Given the description of an element on the screen output the (x, y) to click on. 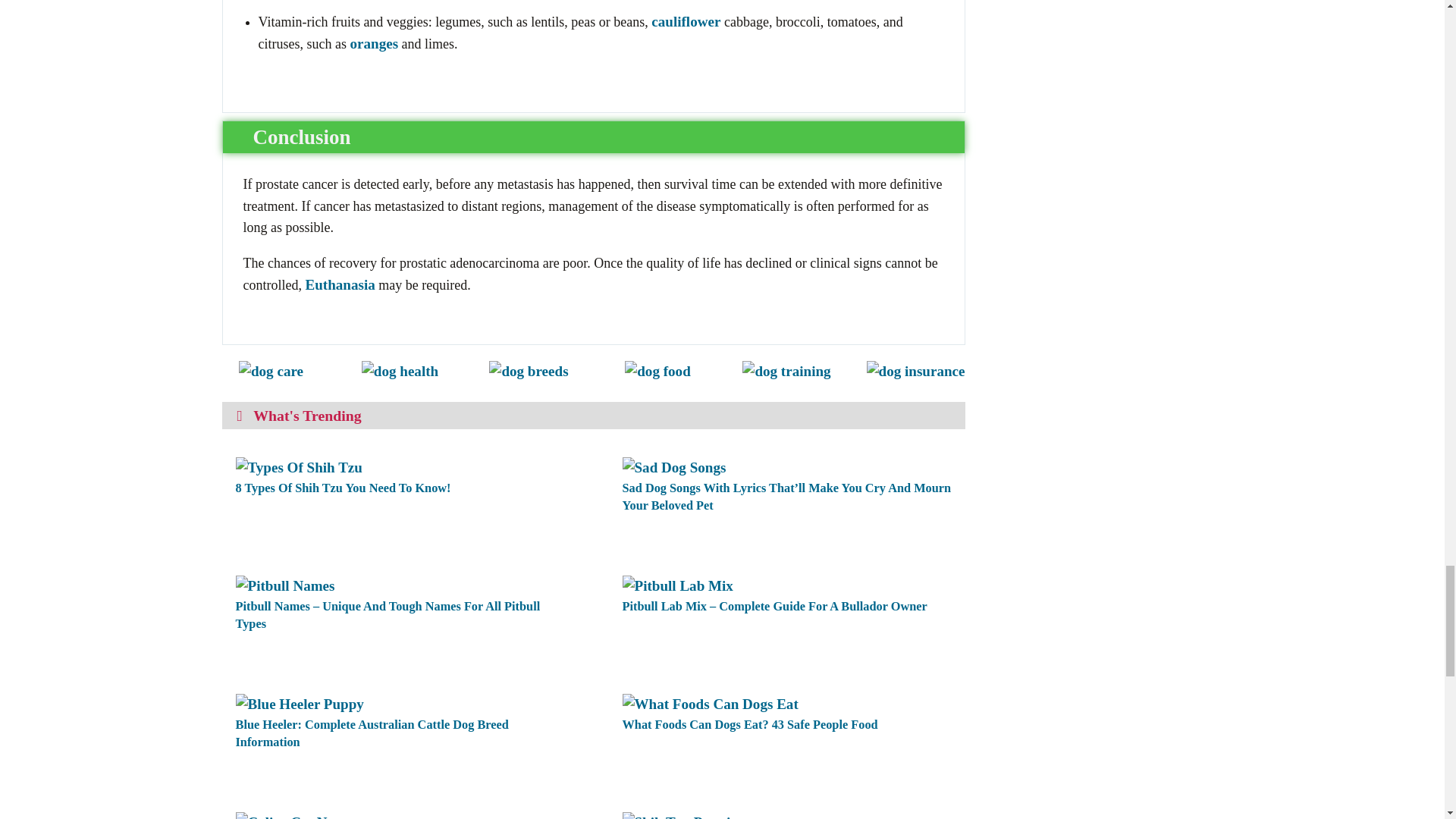
8 Types Of Shih Tzu You Need To Know! (297, 466)
Dog Care (270, 370)
Dog Training (785, 370)
Dog Breeds (528, 370)
Dog Insurance (915, 370)
What Foods Can Dogs Eat? 43 Safe People Food (709, 703)
Dog Health (399, 370)
Dog Food (657, 370)
